Given the description of an element on the screen output the (x, y) to click on. 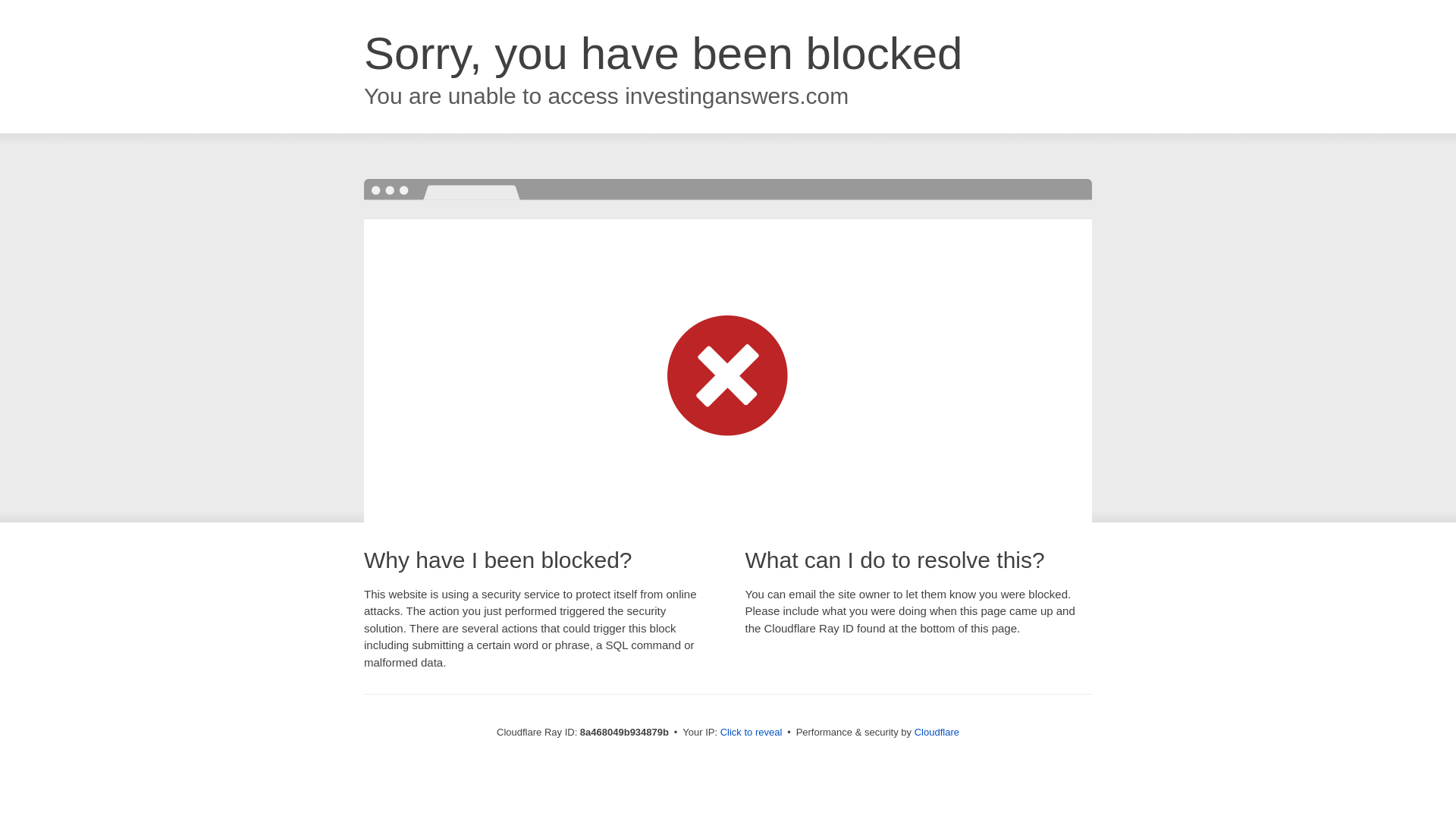
Cloudflare (936, 731)
Click to reveal (751, 732)
